Given the description of an element on the screen output the (x, y) to click on. 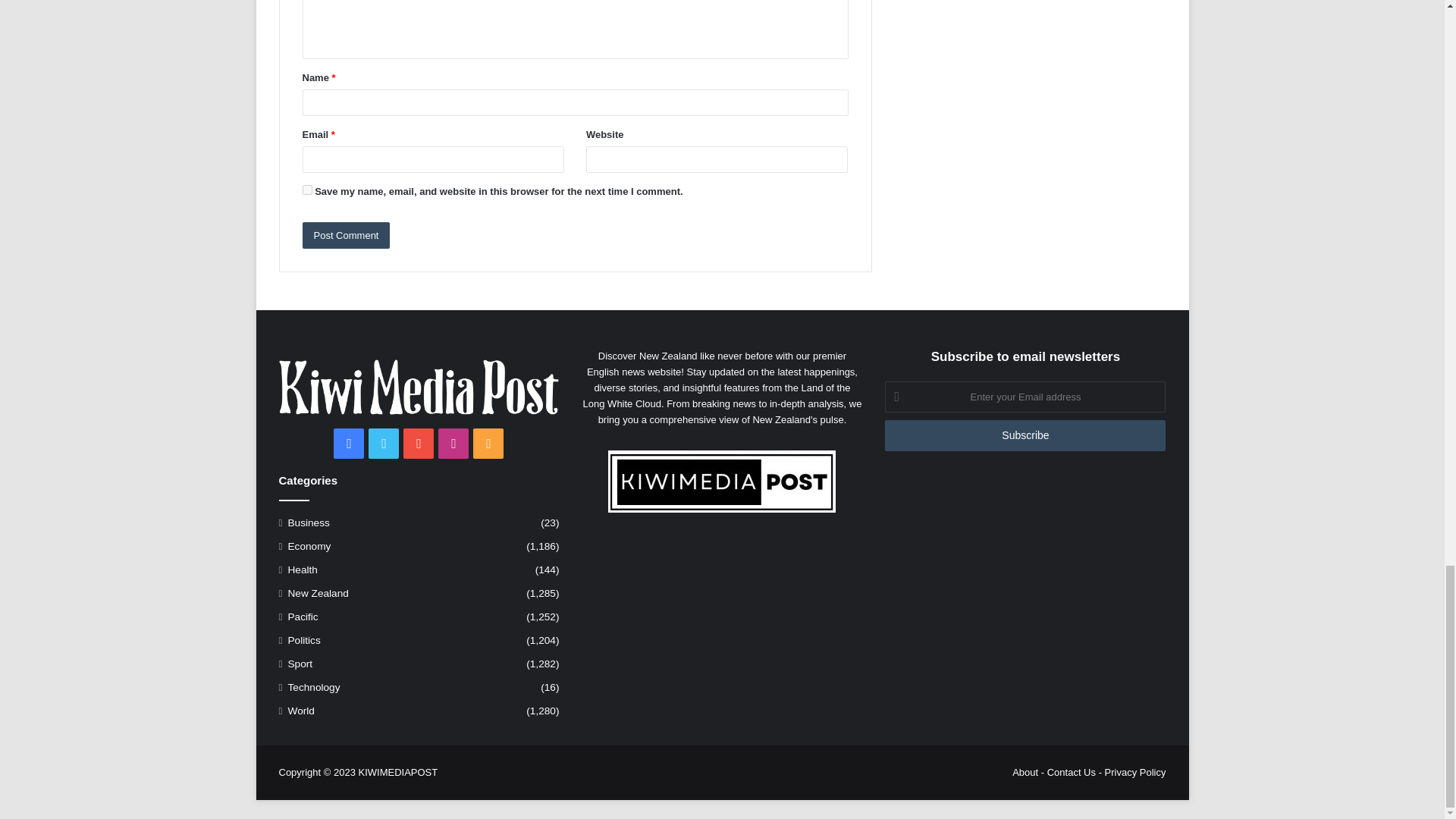
Subscribe (1025, 435)
yes (306, 189)
Post Comment (345, 234)
